Given the description of an element on the screen output the (x, y) to click on. 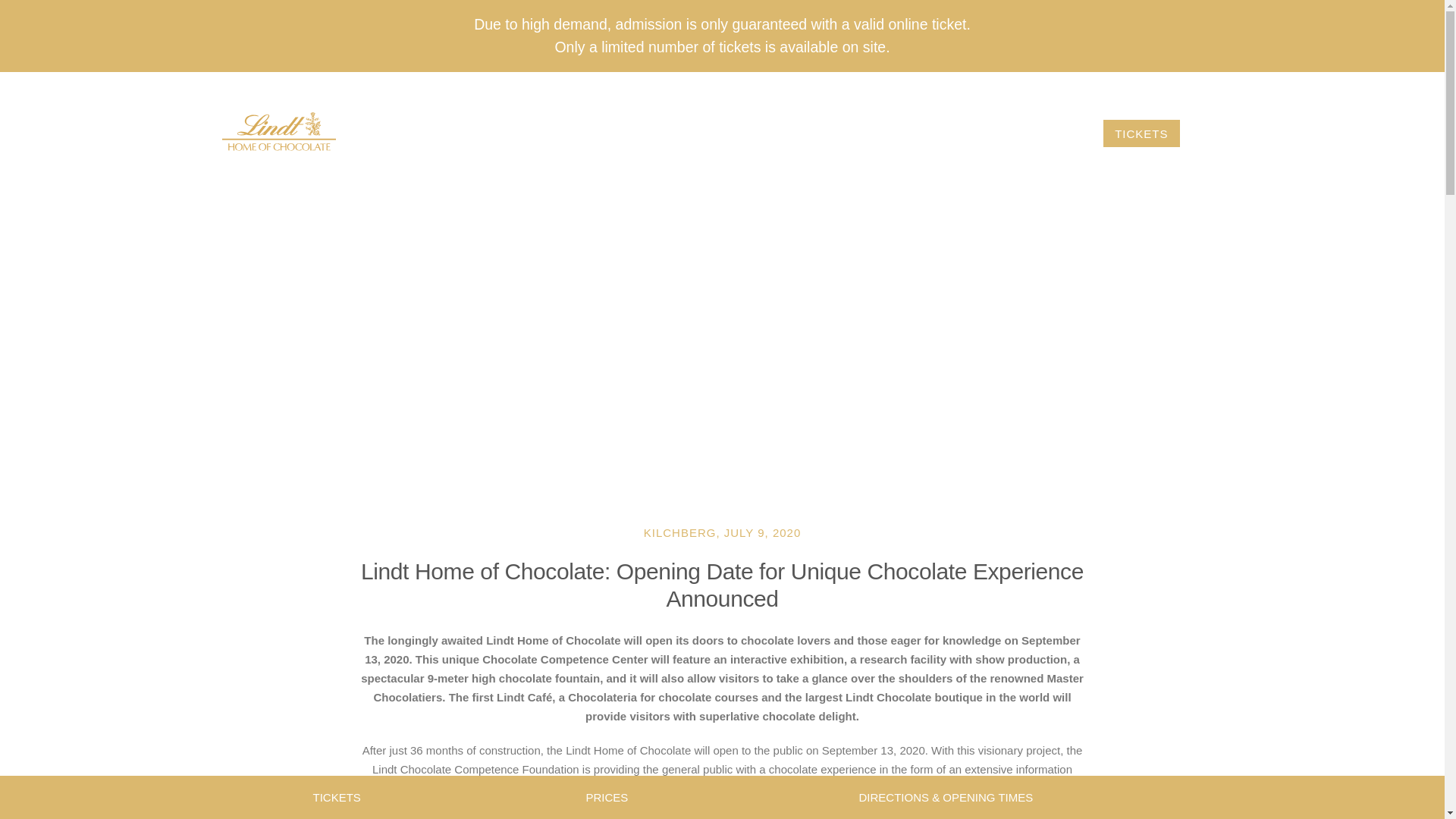
Menu (1209, 133)
SHOP (814, 133)
TICKETS (1141, 133)
EN (1211, 87)
CHOCOLATE TOUR (532, 133)
Events (888, 133)
Chocolate courses (693, 133)
Shop (814, 133)
Chocolate tour (532, 133)
CHOCOLATE COURSES (693, 133)
